Given the description of an element on the screen output the (x, y) to click on. 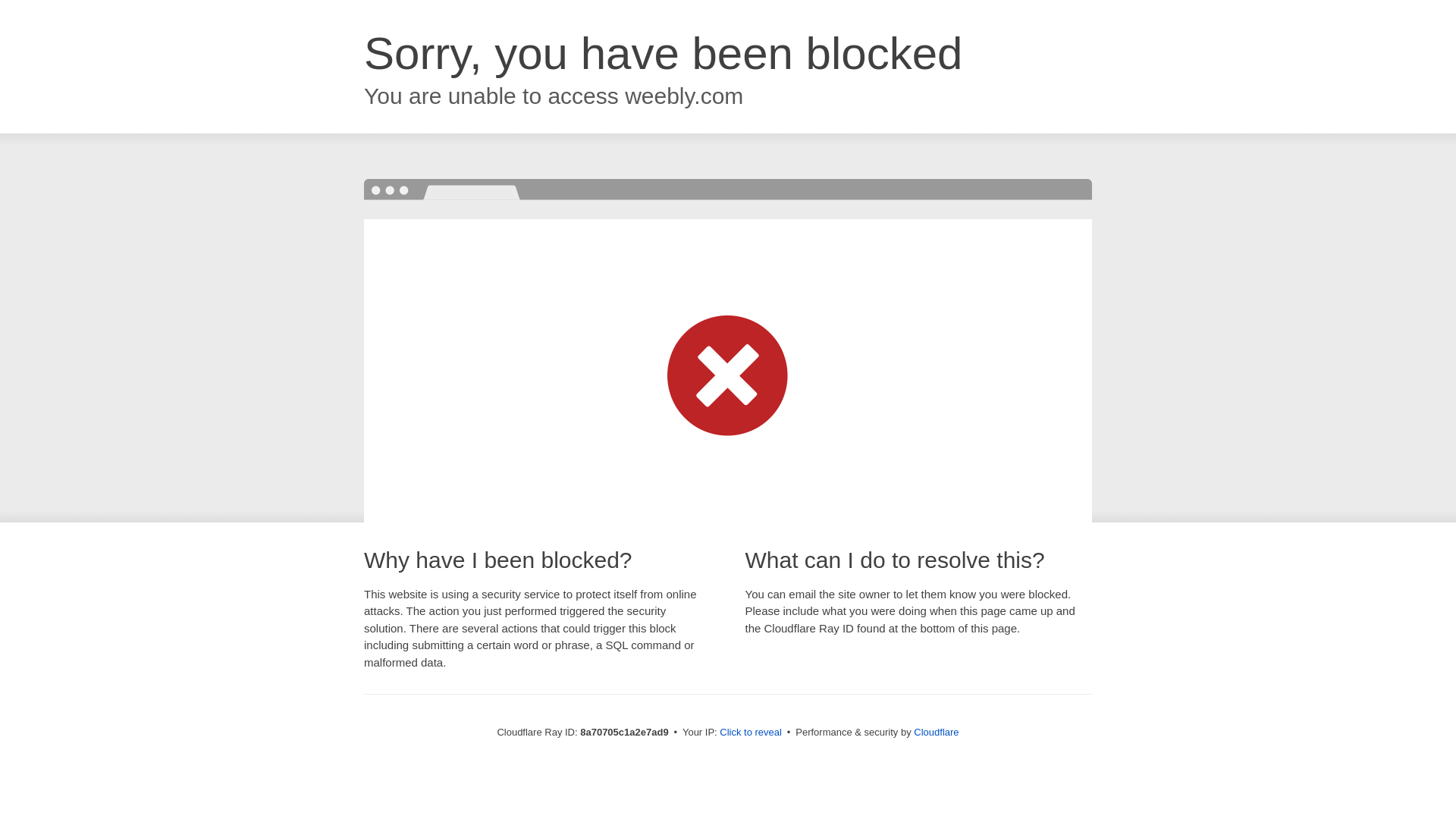
Cloudflare (936, 731)
Click to reveal (750, 732)
